Given the description of an element on the screen output the (x, y) to click on. 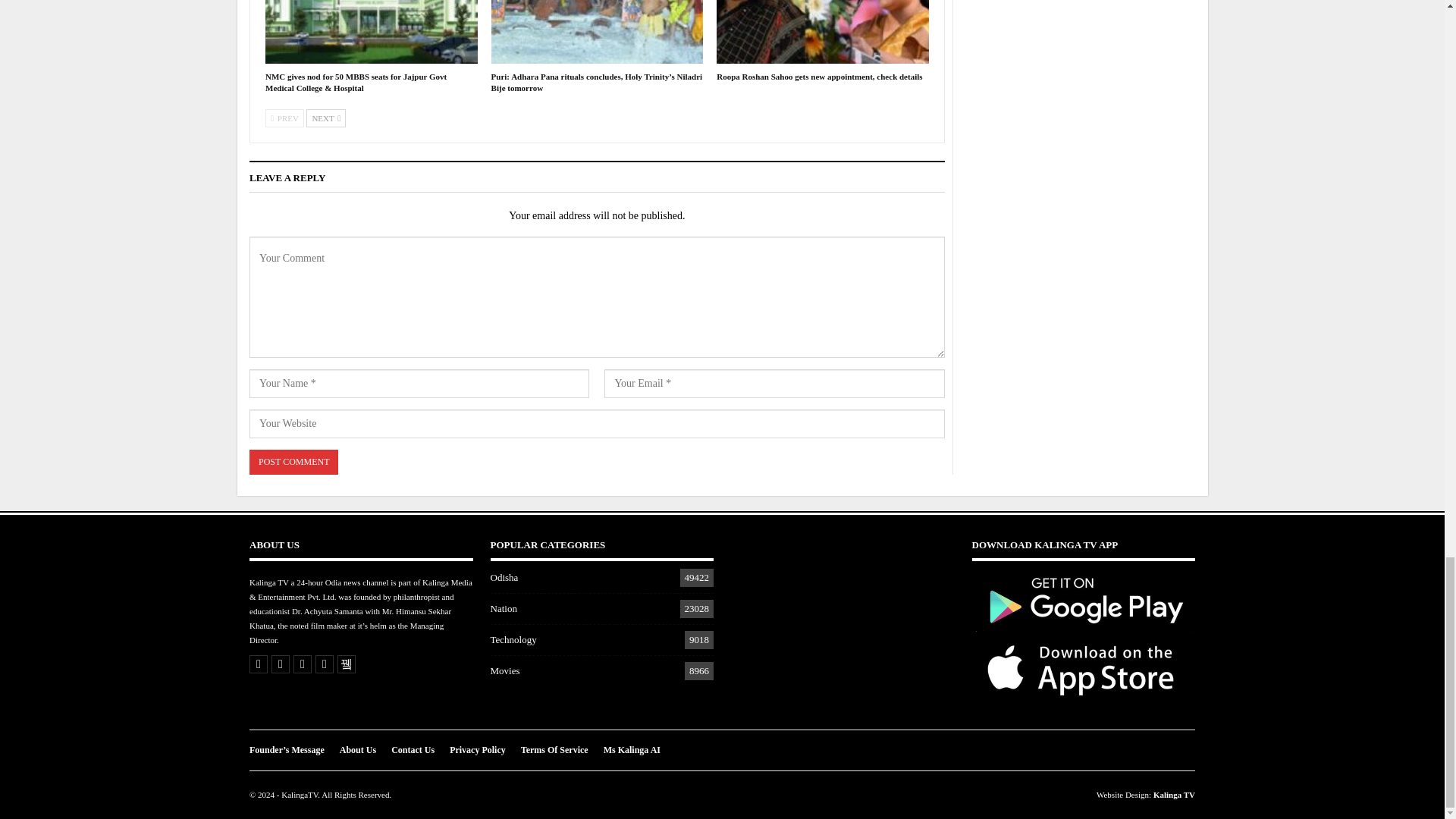
Roopa Roshan Sahoo gets new appointment, check details (822, 31)
Post Comment (292, 462)
